Given the description of an element on the screen output the (x, y) to click on. 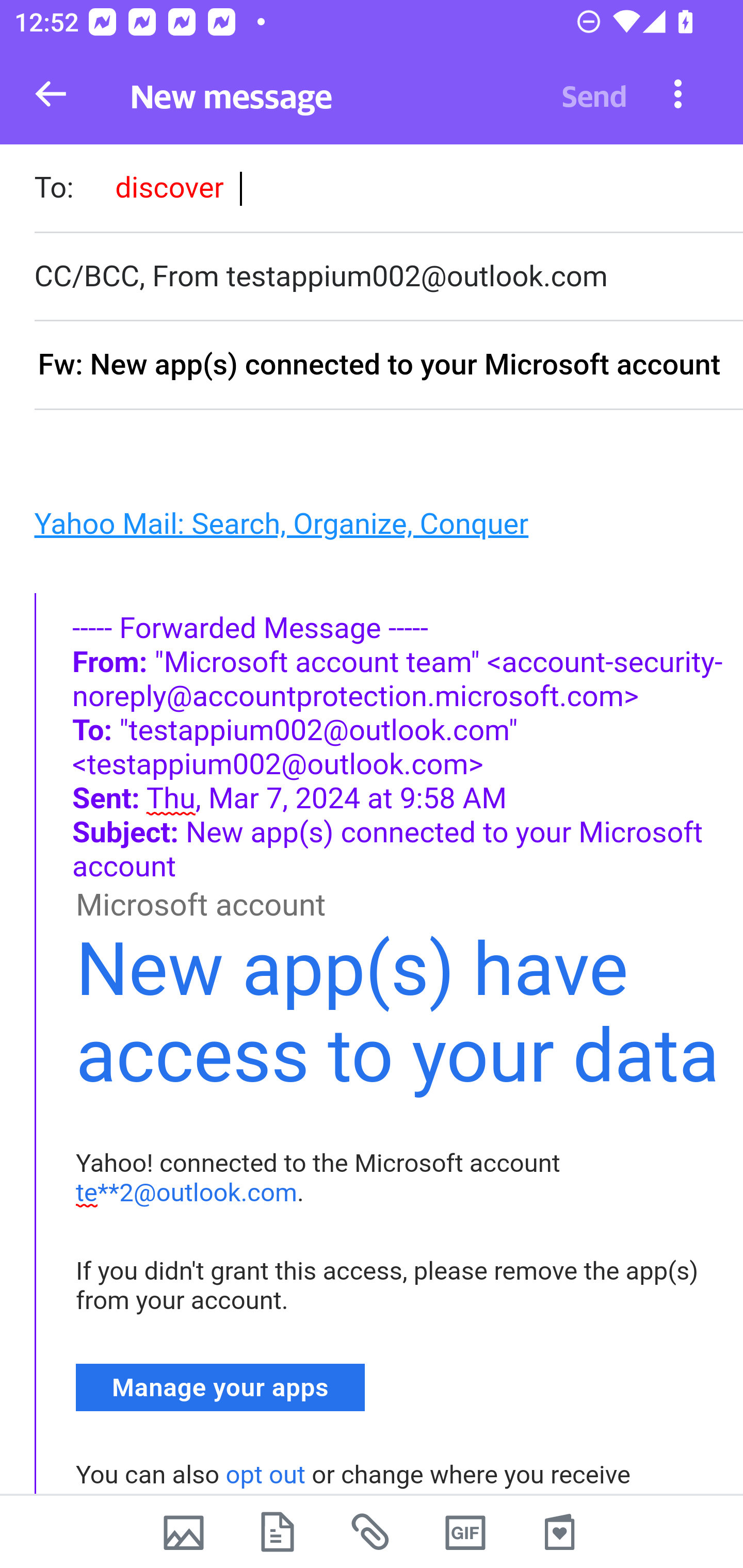
Back (50, 93)
Send (594, 93)
More options (677, 93)
To: discover (387, 189)
discover (169, 187)
CC/BCC, From testappium002@outlook.com (387, 276)
Fw: New app(s) connected to your Microsoft account (387, 365)
Yahoo Mail: Search, Organize, Conquer (280, 522)
te**2@outlook.com (186, 1192)
Manage your apps (220, 1386)
opt out (264, 1474)
Camera photos (183, 1531)
Device files (277, 1531)
Recent attachments from mail (371, 1531)
GIFs (465, 1531)
Stationery (559, 1531)
